Given the description of an element on the screen output the (x, y) to click on. 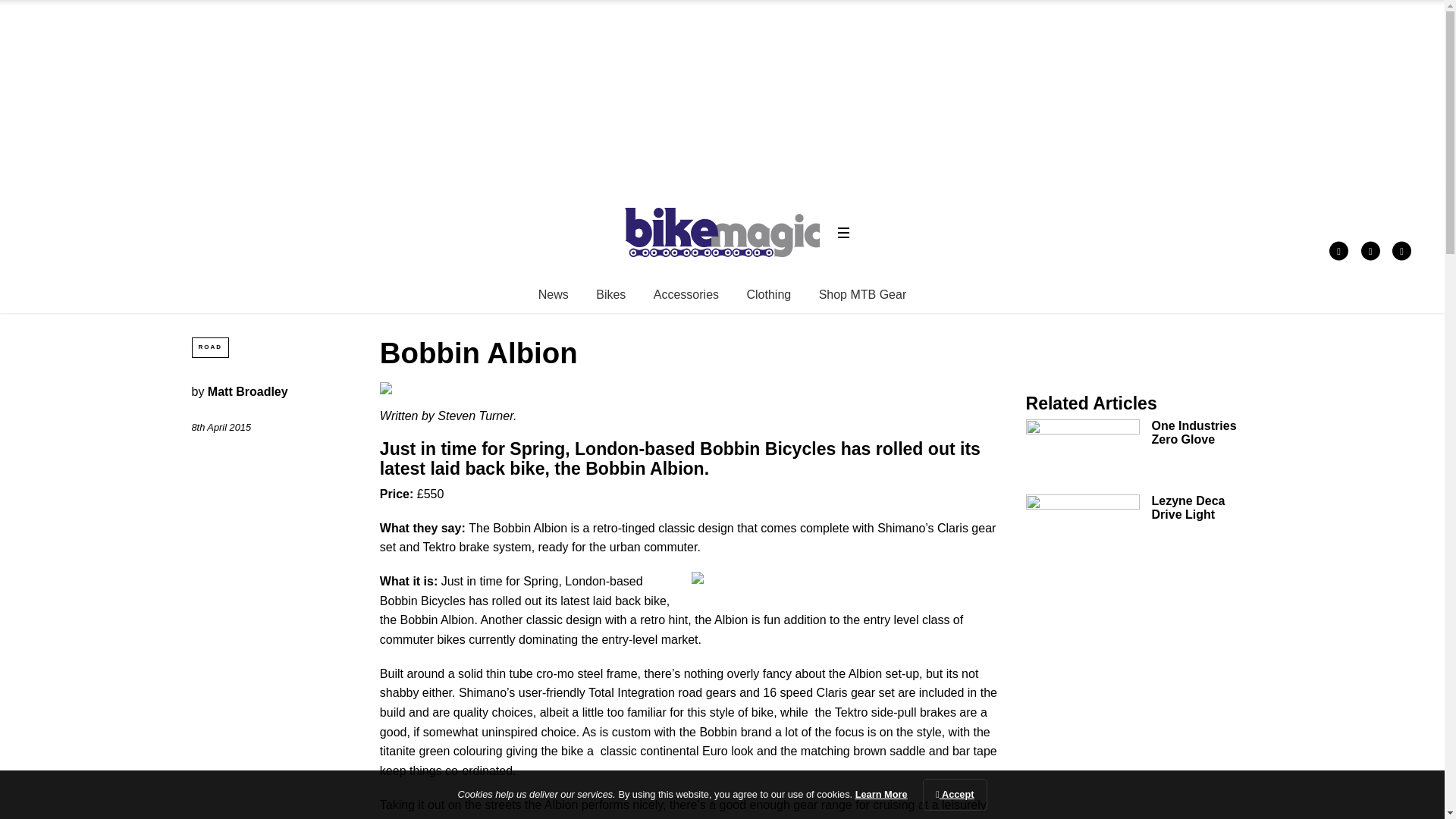
Find us on Instagram (301, 2)
Shop MTB Gear (862, 294)
Find us on Facebook (1338, 251)
Clothing (767, 294)
Follow us on Twitter (252, 2)
Menu (842, 232)
Follow us on Twitter (1370, 251)
News (553, 294)
logo (721, 232)
Subscribe to our Newsletter (399, 2)
Find us on Instagram (1400, 251)
Accessories (686, 294)
Find us on Facebook (204, 2)
Bikes (610, 294)
